Given the description of an element on the screen output the (x, y) to click on. 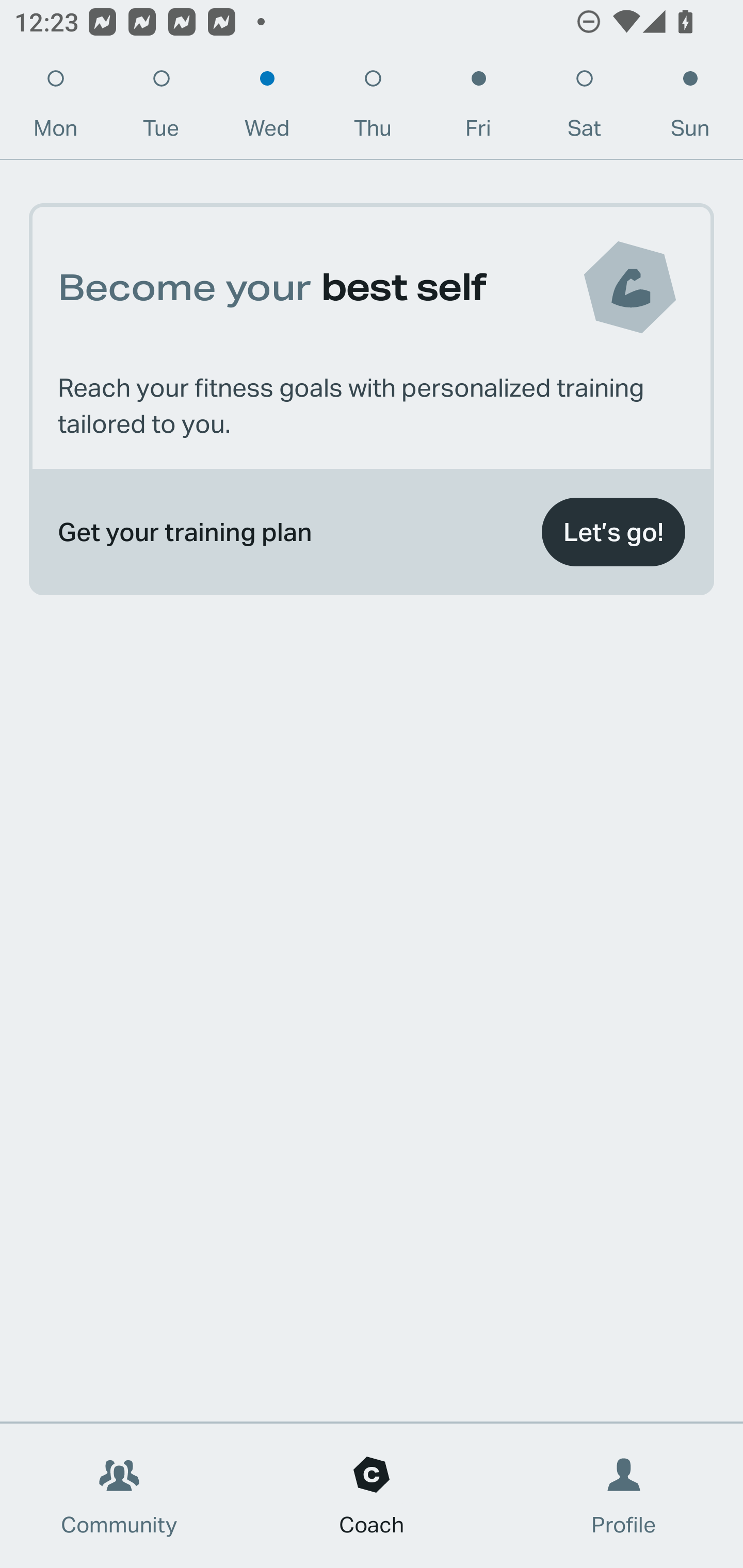
Mon (55, 108)
Tue (160, 108)
Wed (266, 108)
Thu (372, 108)
Fri (478, 108)
Sat (584, 108)
Sun (690, 108)
Let’s go! (613, 532)
Community (119, 1495)
Profile (624, 1495)
